Given the description of an element on the screen output the (x, y) to click on. 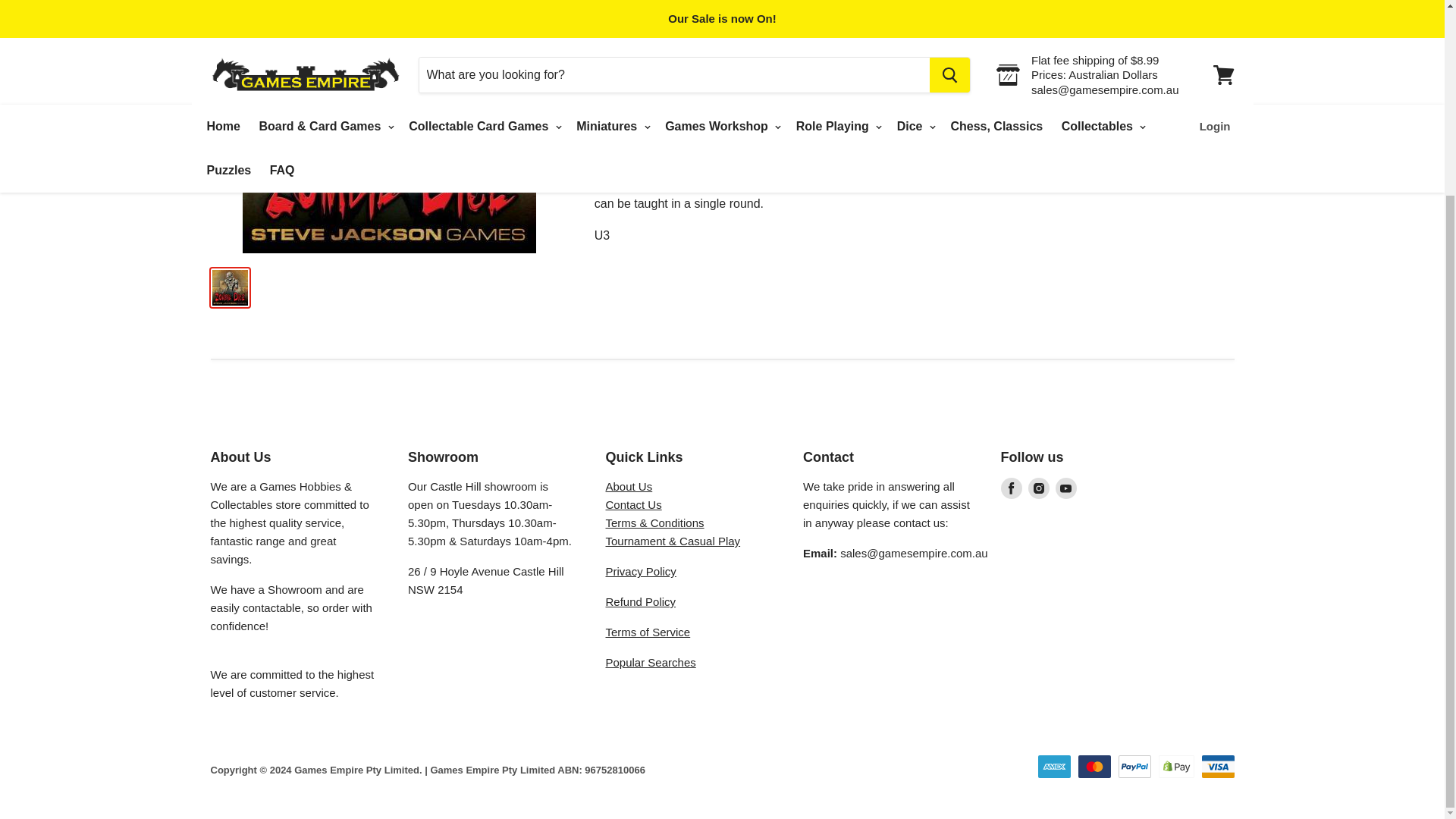
Instagram (1038, 488)
Facebook (1011, 488)
Terms of Service (647, 631)
Contact Us (633, 504)
Youtube (1066, 488)
Refund Policy (640, 601)
About Us (628, 486)
Privacy Policy (640, 571)
